Given the description of an element on the screen output the (x, y) to click on. 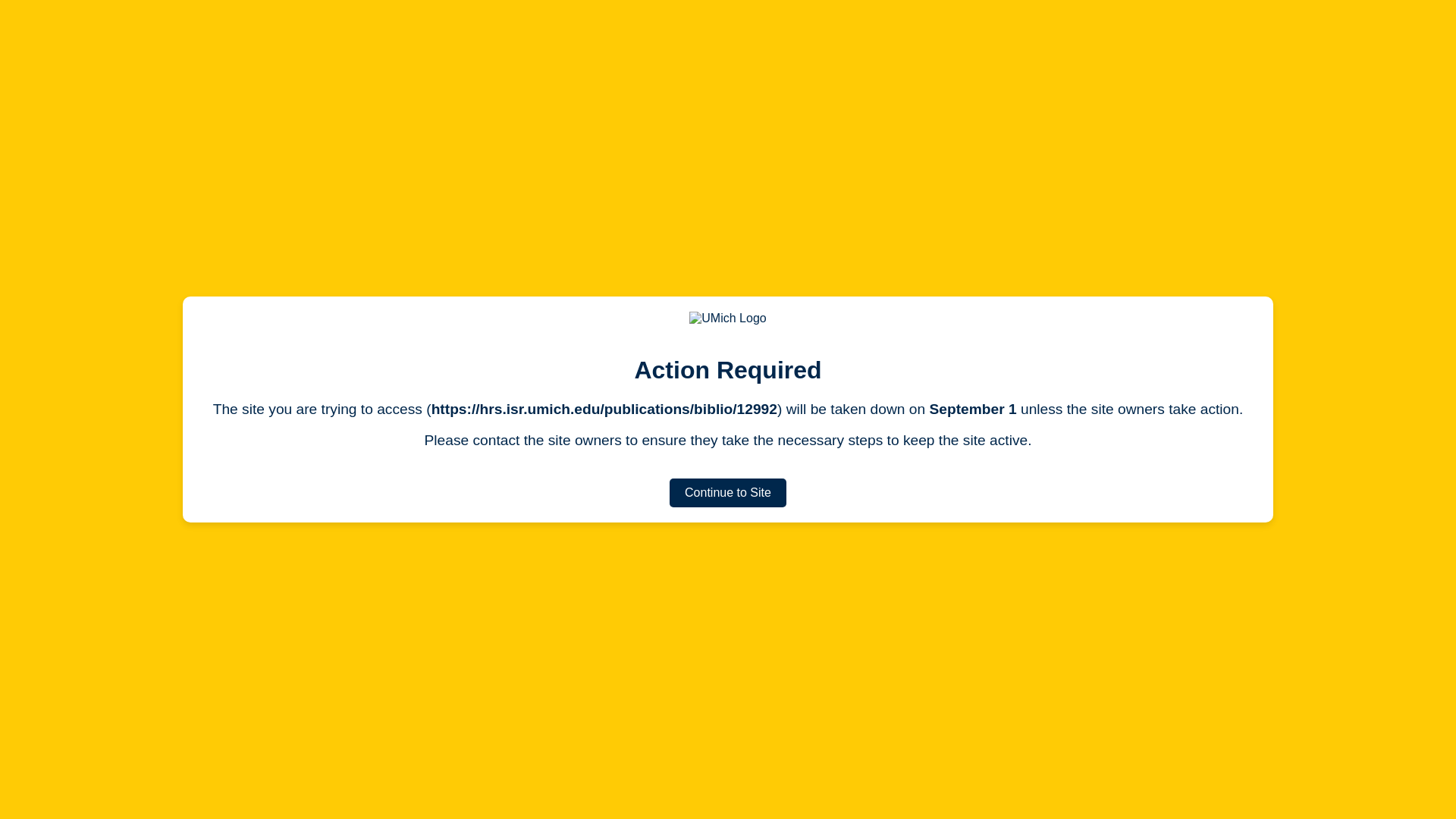
Continue to Site (727, 492)
